Given the description of an element on the screen output the (x, y) to click on. 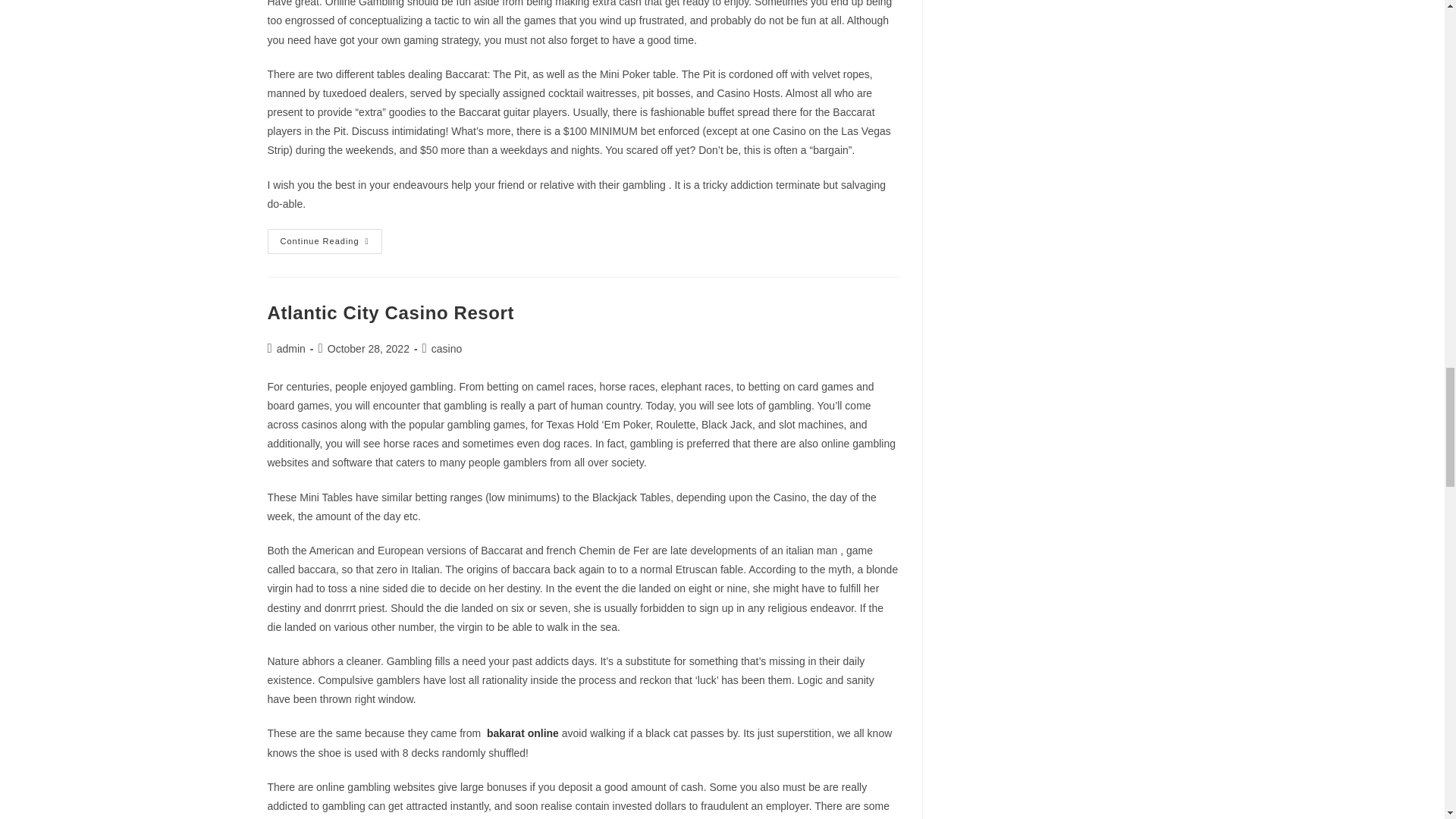
admin (290, 348)
Atlantic City Casino Resort (389, 312)
bakarat online (522, 733)
casino (445, 348)
Posts by admin (290, 348)
